Given the description of an element on the screen output the (x, y) to click on. 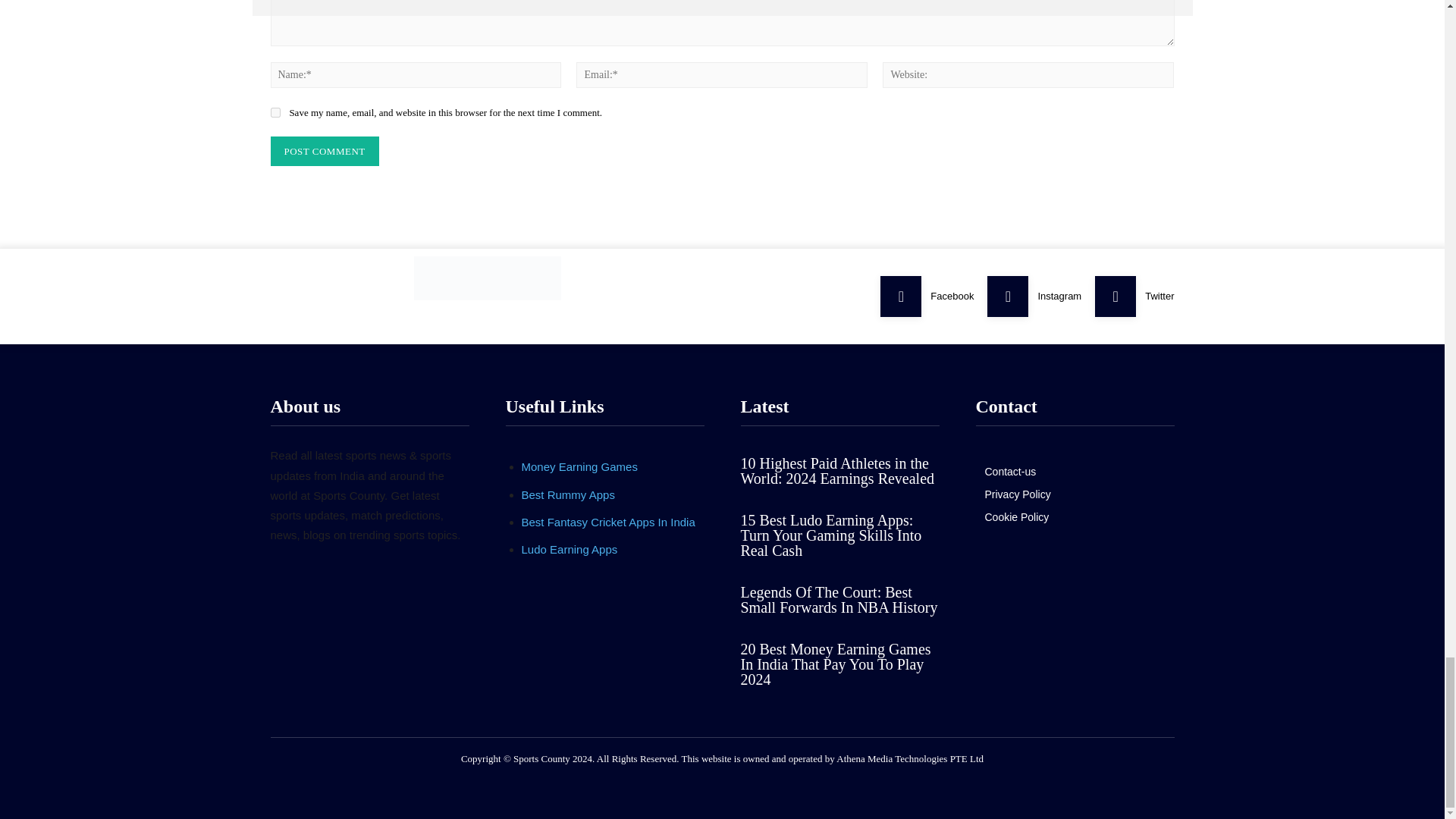
yes (274, 112)
Post Comment (323, 151)
